Given the description of an element on the screen output the (x, y) to click on. 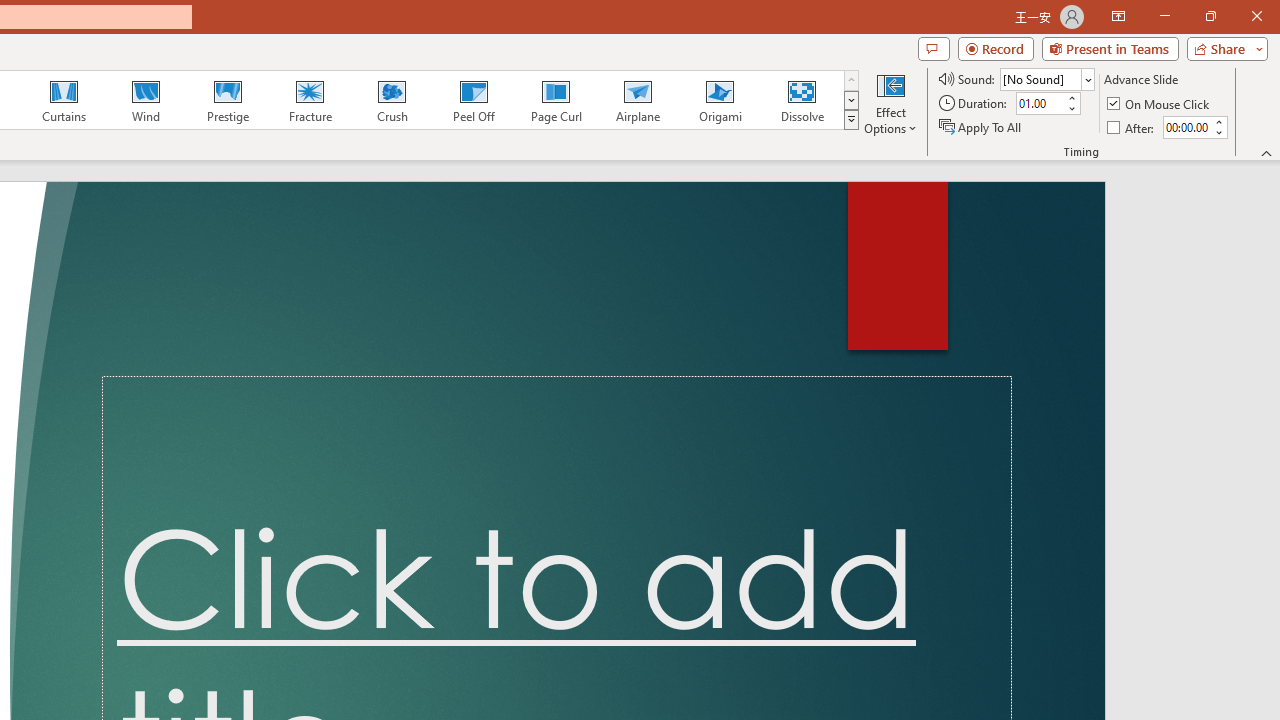
Ion Variant 1 (674, 100)
Gallery Loading Preview... (544, 100)
Ion Variant 3 (861, 100)
Frame Loading Preview... (450, 100)
Circuit Loading Preview... (79, 100)
Ion Variant 4 (953, 100)
